Given the description of an element on the screen output the (x, y) to click on. 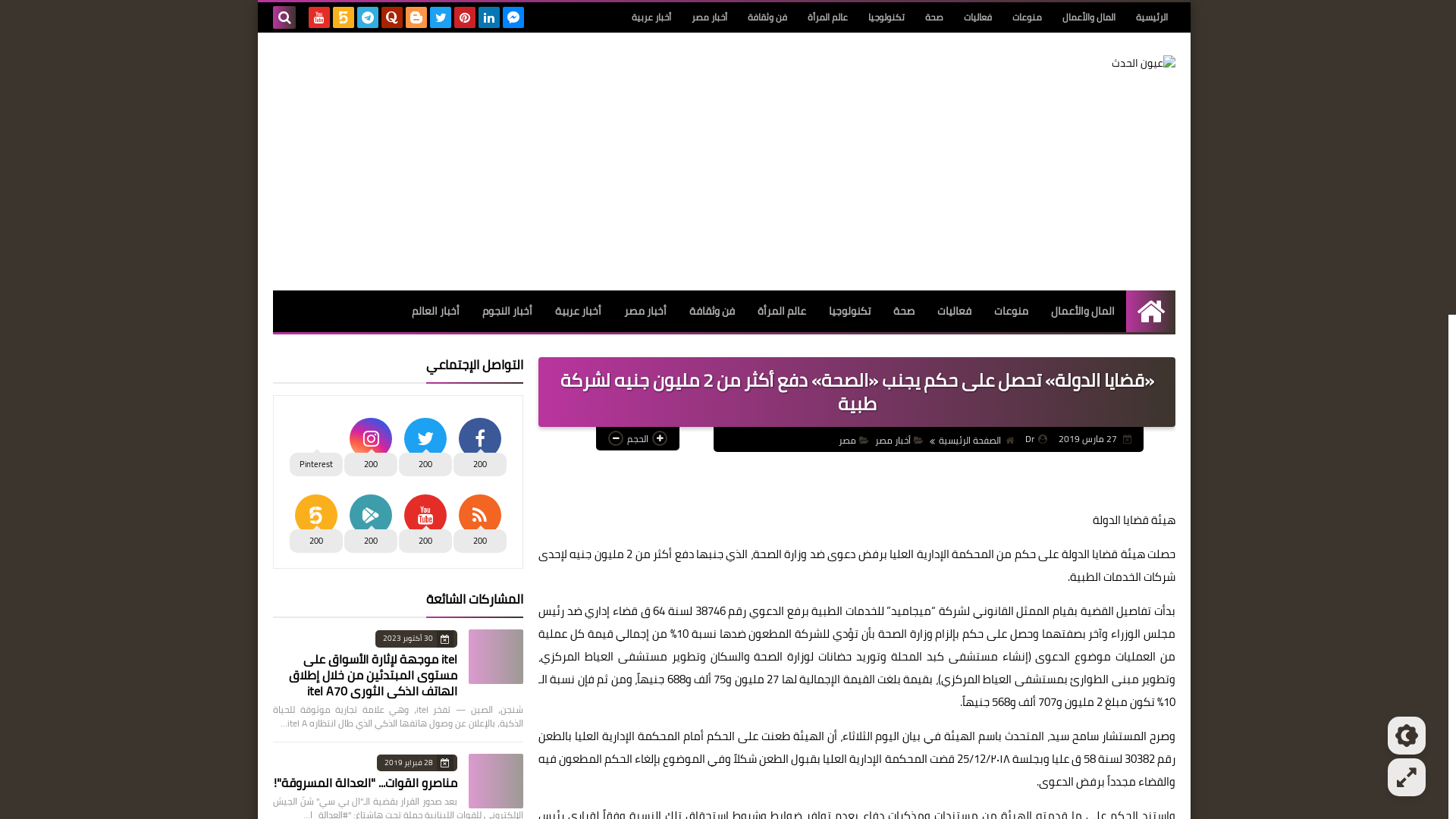
linkedin Element type: hover (488, 17)
twitter Element type: hover (440, 17)
pinterest Element type: hover (464, 17)
200 Element type: text (424, 519)
200 Element type: text (370, 519)
youtube Element type: hover (318, 17)
200 Element type: text (315, 519)
Pinterest Element type: text (315, 443)
messenger Element type: hover (513, 17)
Dr Element type: text (1036, 438)
blogger Element type: hover (415, 17)
khamsat Element type: hover (343, 17)
200 Element type: text (479, 519)
telegram Element type: hover (367, 17)
quora Element type: hover (391, 17)
Advertisement Element type: hover (549, 161)
200 Element type: text (370, 443)
200 Element type: text (479, 443)
200 Element type: text (424, 443)
